Given the description of an element on the screen output the (x, y) to click on. 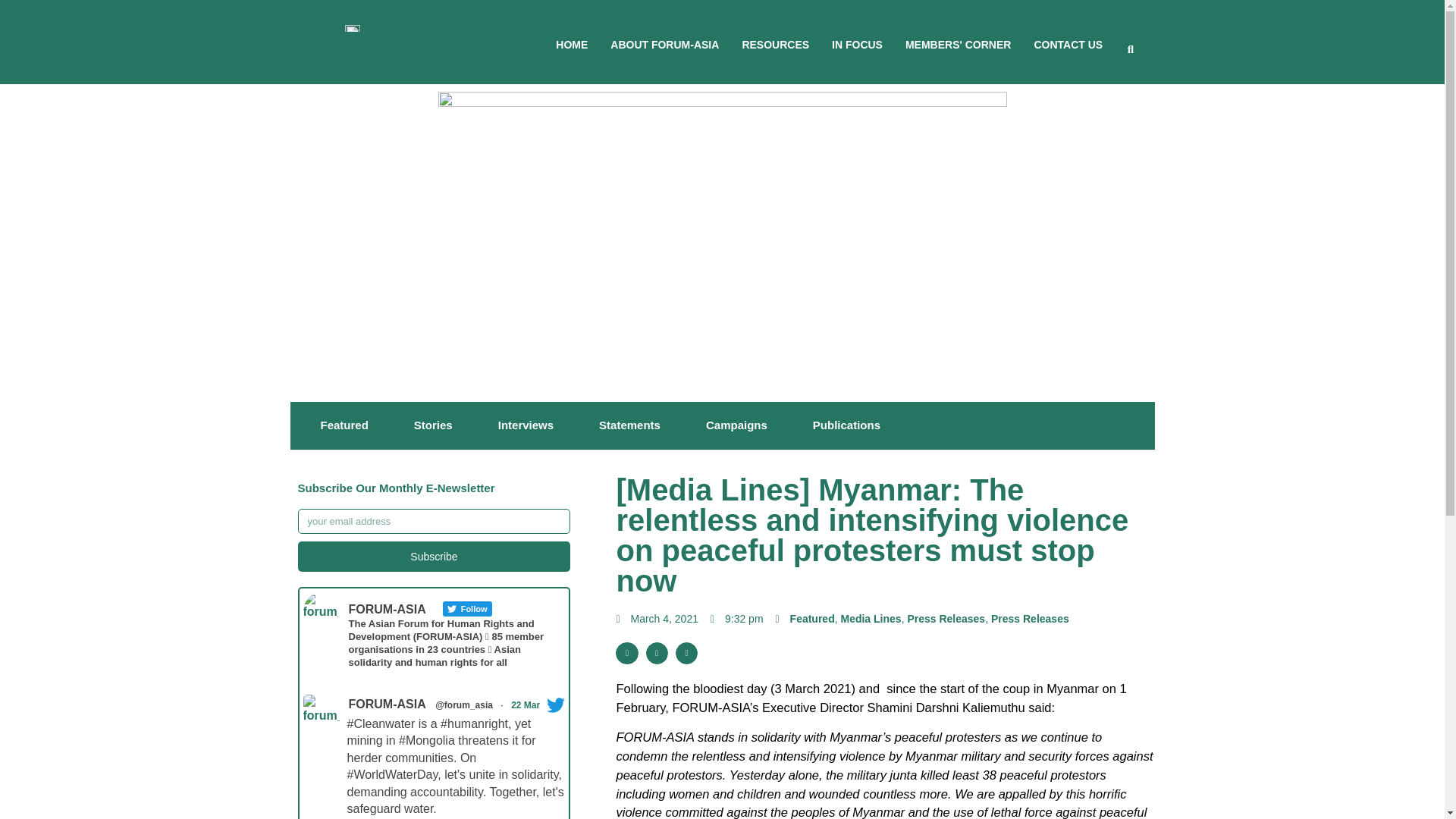
MEMBERS' CORNER (957, 44)
HOME (571, 44)
CONTACT US (1067, 44)
IN FOCUS (856, 44)
RESOURCES (774, 44)
ABOUT FORUM-ASIA (664, 44)
